Given the description of an element on the screen output the (x, y) to click on. 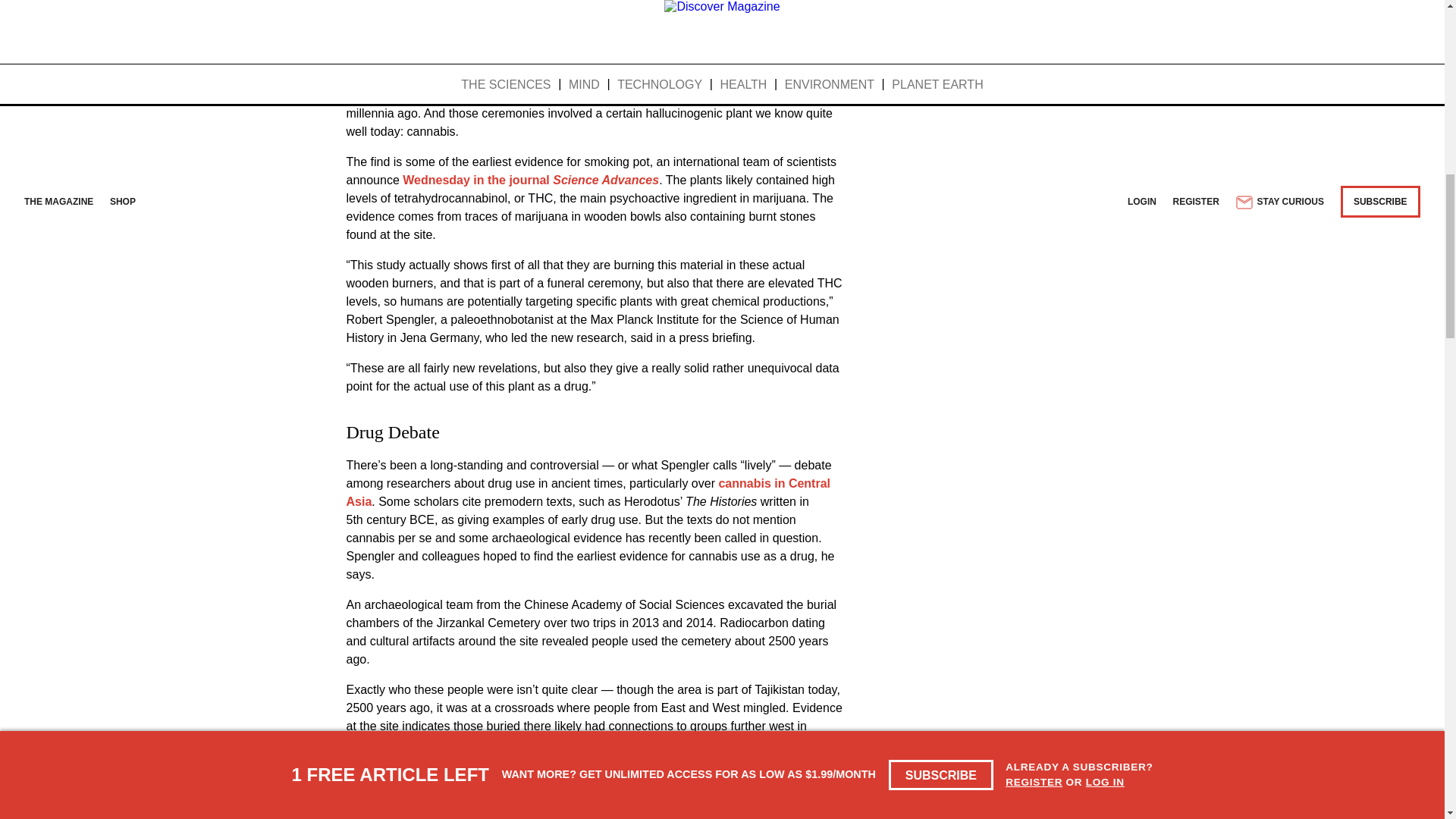
cannabis in Central Asia (587, 491)
Wednesday in the journal  (478, 179)
SIGN UP (811, 3)
Science Advances (606, 179)
